Given the description of an element on the screen output the (x, y) to click on. 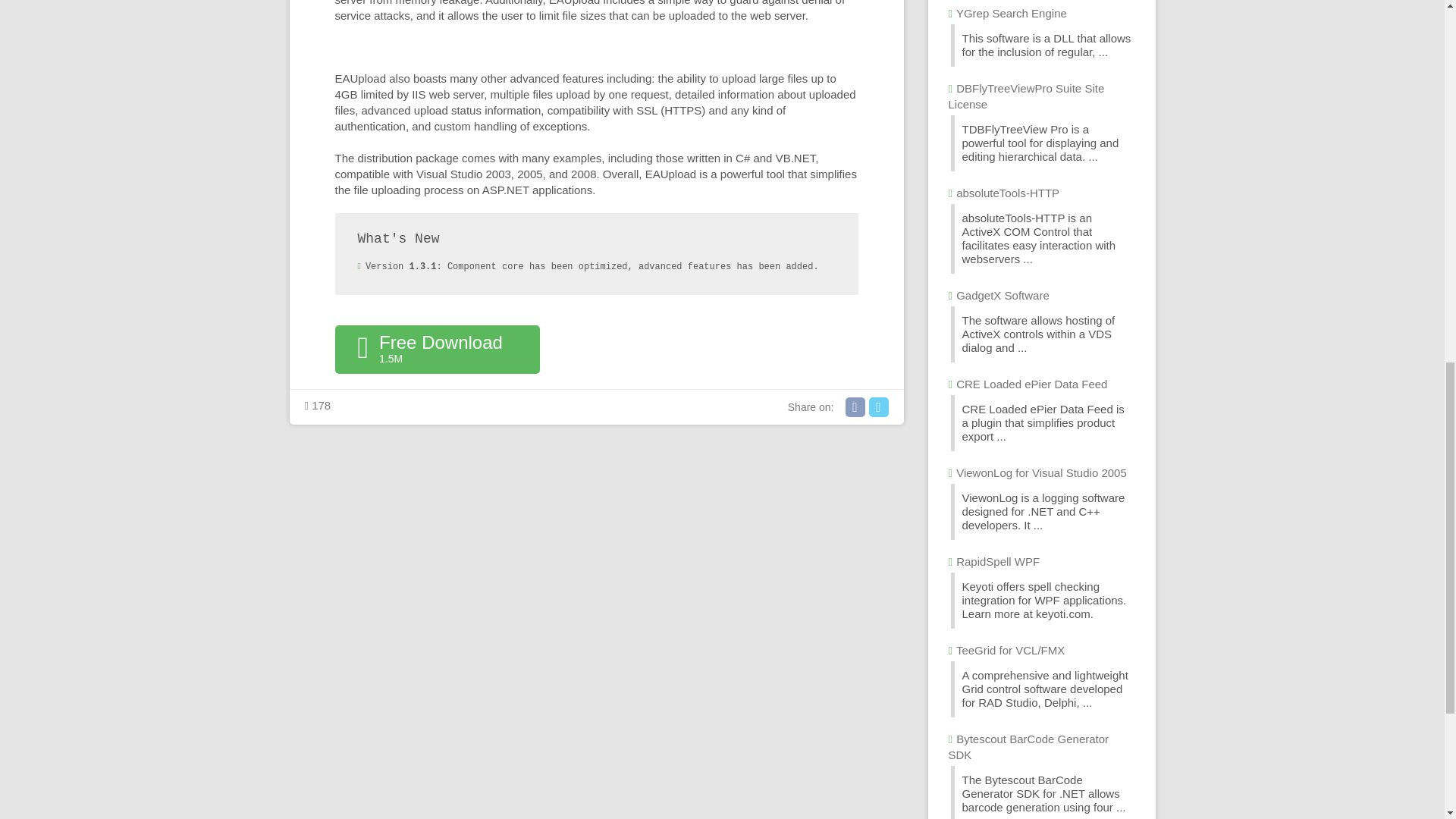
Download EAUpload Asp.Net 1.3.1 (437, 349)
